Given the description of an element on the screen output the (x, y) to click on. 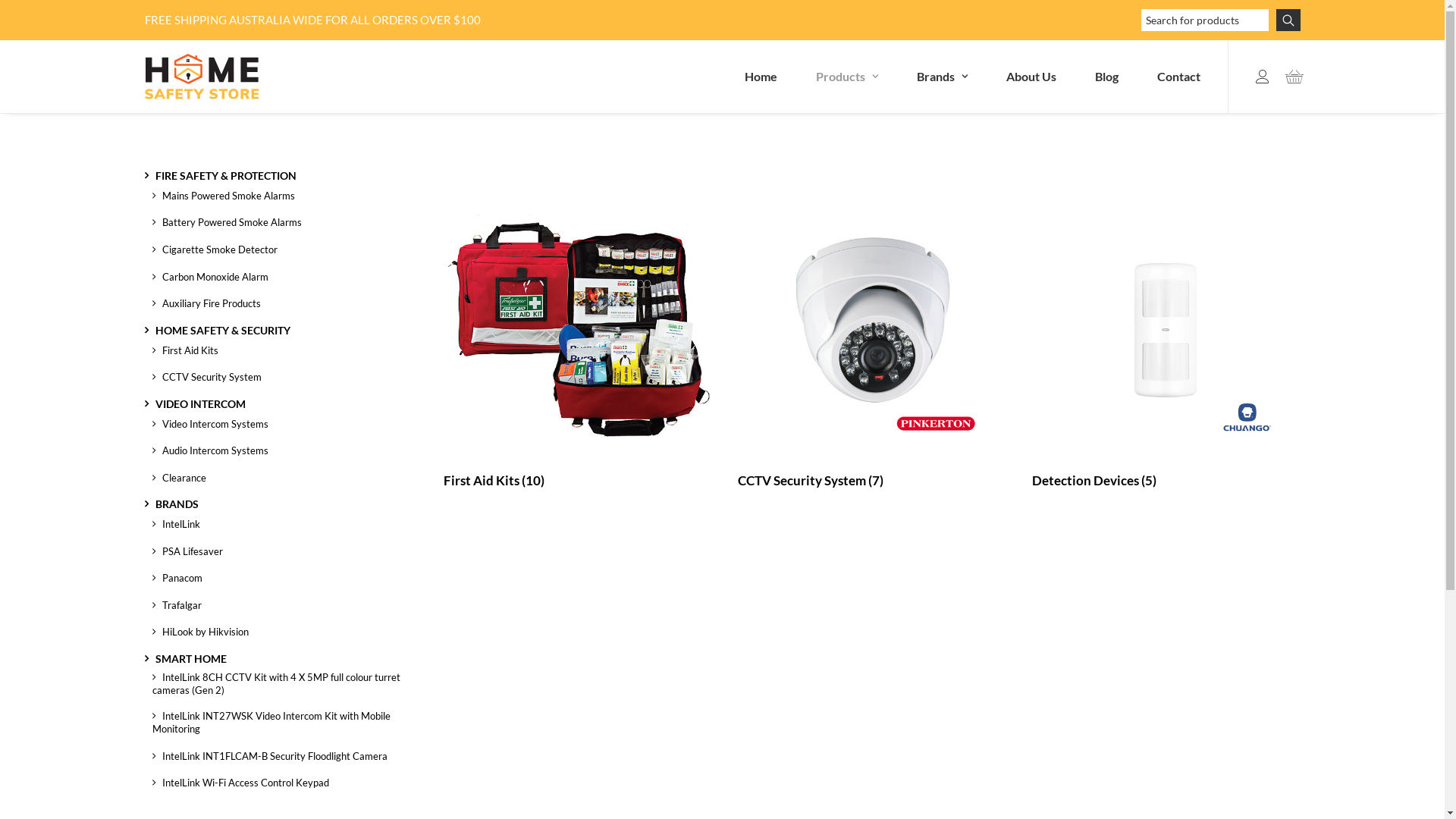
VIDEO INTERCOM Element type: text (194, 405)
Trafalgar Element type: text (175, 607)
Audio Intercom Systems Element type: text (209, 452)
account Element type: hover (1265, 76)
Auxiliary Fire Products Element type: text (205, 305)
Panacom Element type: text (176, 580)
Mains Powered Smoke Alarms Element type: text (222, 197)
IntelLink Element type: text (175, 526)
First Aid Kits (10) Element type: text (493, 480)
Home Element type: text (760, 76)
IntelLink INT1FLCAM-B Security Floodlight Camera Element type: text (268, 758)
Cigarette Smoke Detector Element type: text (213, 251)
HiLook by Hikvision Element type: text (199, 633)
PSA Lifesaver Element type: text (186, 553)
Battery Powered Smoke Alarms Element type: text (226, 224)
cart Element type: hover (1289, 76)
Detection Devices (5) Element type: text (1094, 480)
SMART HOME Element type: text (184, 660)
HOME SAFETY & SECURITY Element type: text (216, 332)
Products Element type: text (846, 76)
IntelLink INT27WSK Video Intercom Kit with Mobile Monitoring Element type: text (276, 724)
Contact Element type: text (1169, 76)
First Aid Kits Element type: text (184, 352)
Clearance Element type: text (178, 479)
IntelLink Wi-Fi Access Control Keypad Element type: text (239, 784)
Search Element type: text (1287, 20)
Video Intercom Systems Element type: text (209, 426)
About Us Element type: text (1030, 76)
BRANDS Element type: text (170, 505)
CCTV Security System (7) Element type: text (810, 480)
Blog Element type: text (1106, 76)
FIRE SAFETY & PROTECTION Element type: text (219, 177)
CCTV Security System Element type: text (205, 379)
Carbon Monoxide Alarm Element type: text (209, 278)
Brands Element type: text (941, 76)
